Given the description of an element on the screen output the (x, y) to click on. 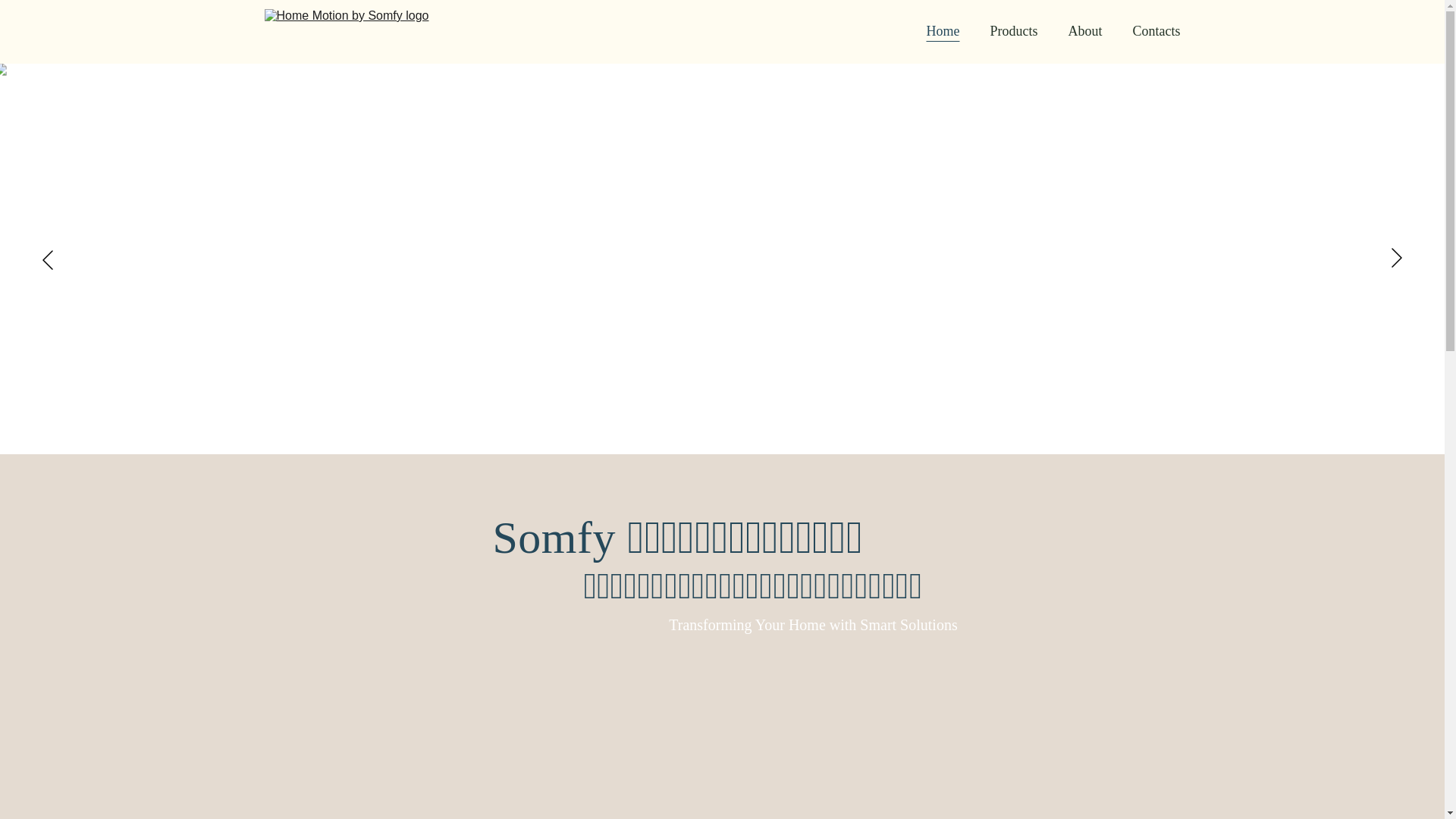
Products (1014, 31)
Contacts (1156, 31)
About (1084, 31)
Home (942, 31)
